Given the description of an element on the screen output the (x, y) to click on. 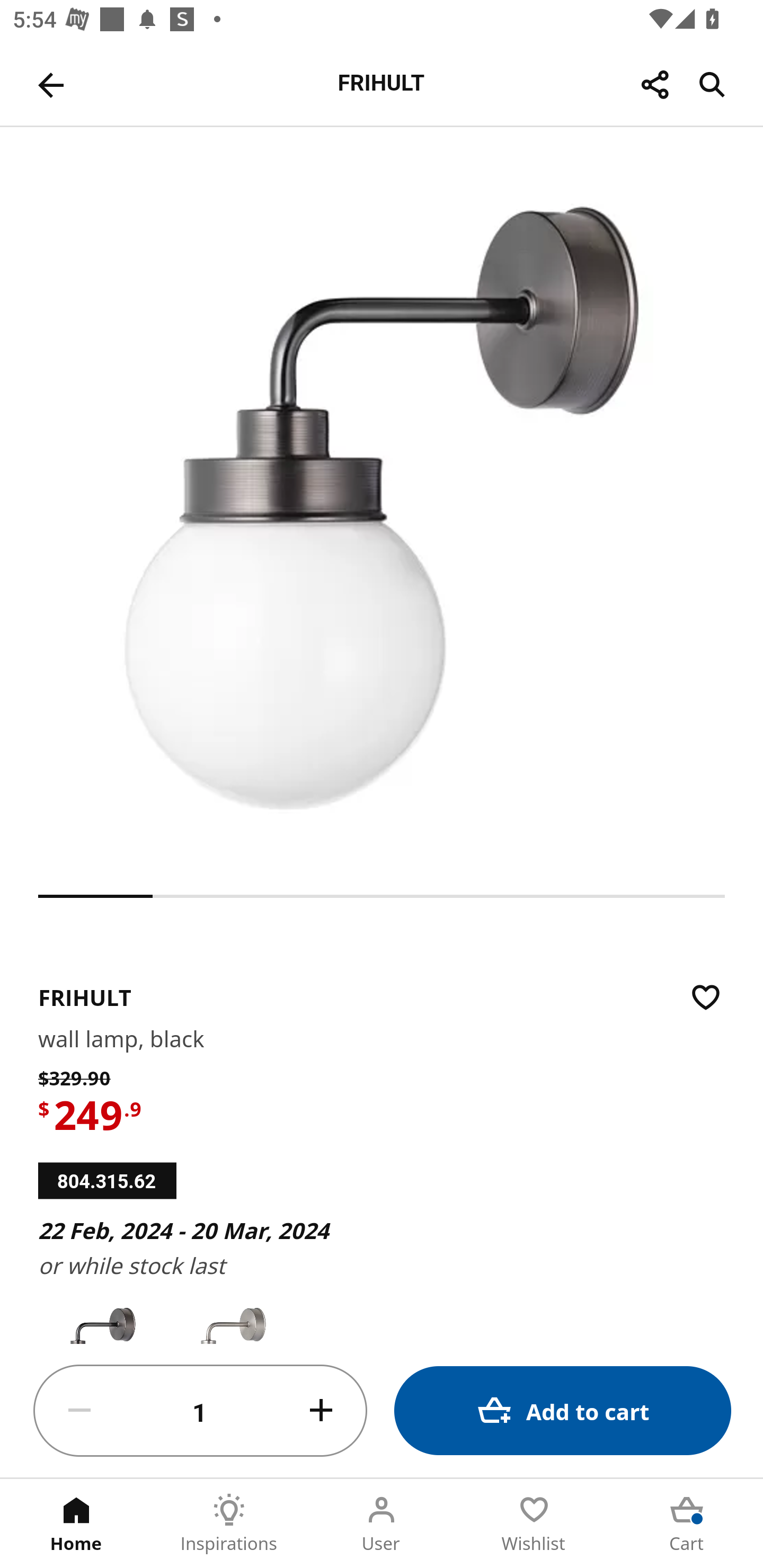
Add to cart (562, 1410)
1 (200, 1411)
Home
Tab 1 of 5 (76, 1522)
Inspirations
Tab 2 of 5 (228, 1522)
User
Tab 3 of 5 (381, 1522)
Wishlist
Tab 4 of 5 (533, 1522)
Cart
Tab 5 of 5 (686, 1522)
